Given the description of an element on the screen output the (x, y) to click on. 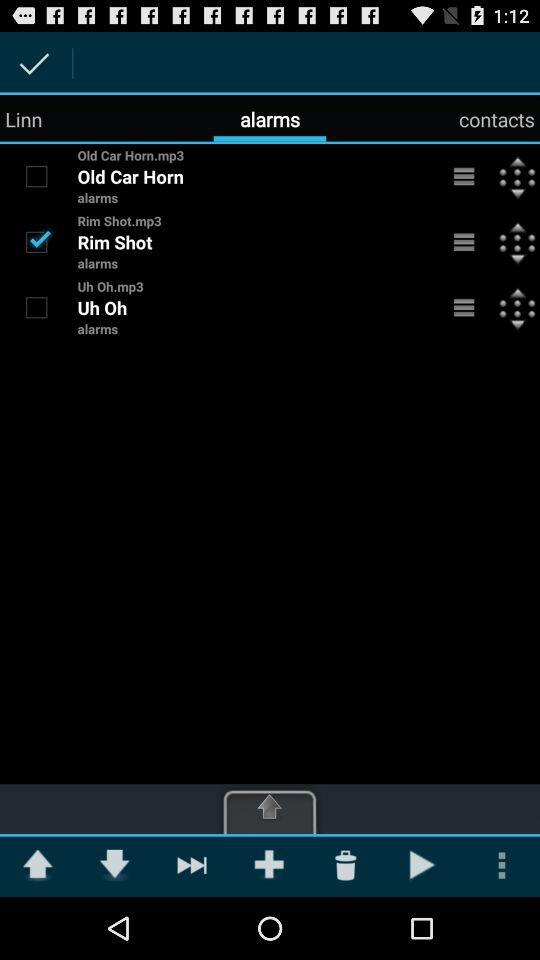
select suond (36, 176)
